Given the description of an element on the screen output the (x, y) to click on. 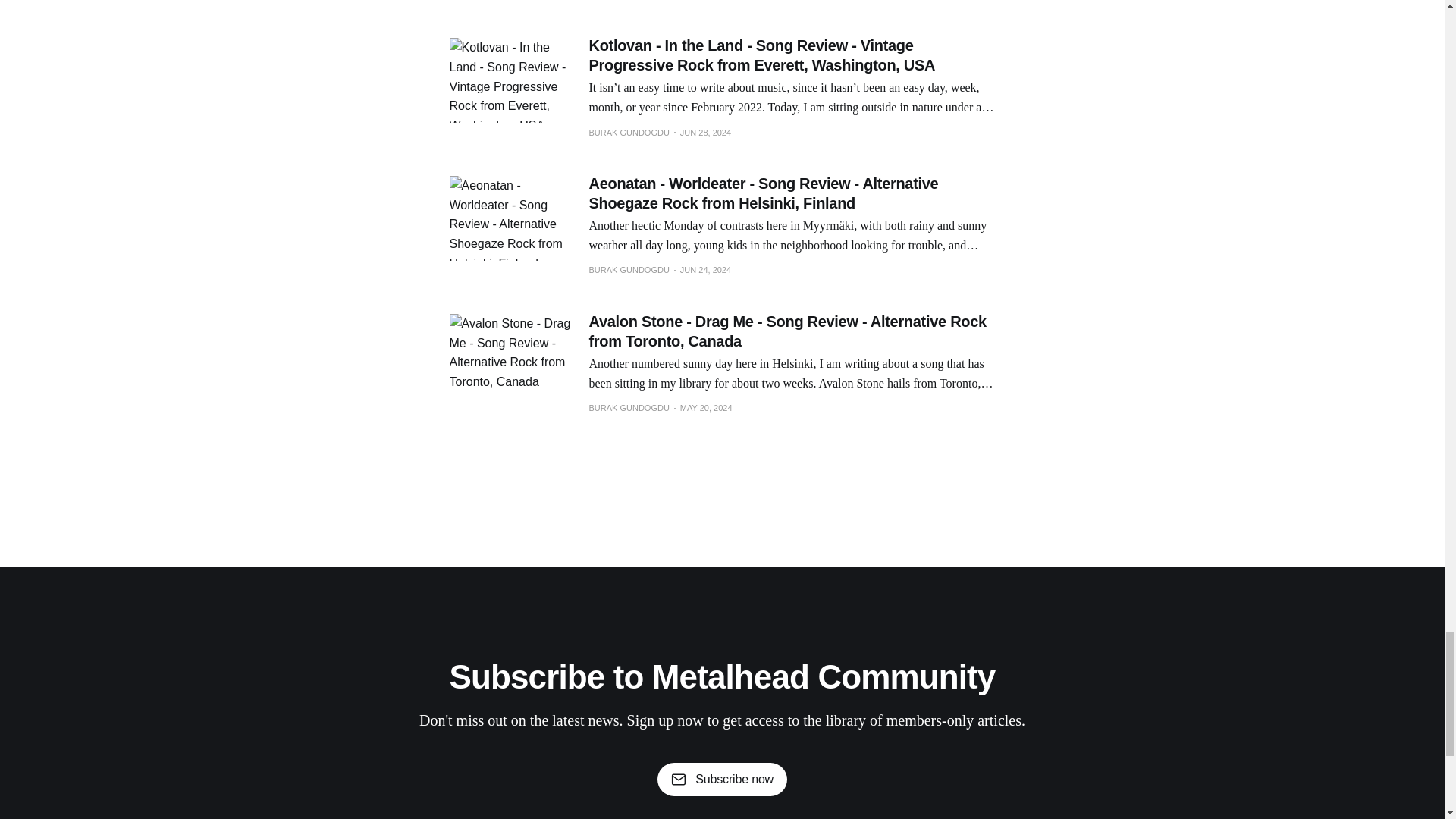
Subscribe now (722, 779)
